Given the description of an element on the screen output the (x, y) to click on. 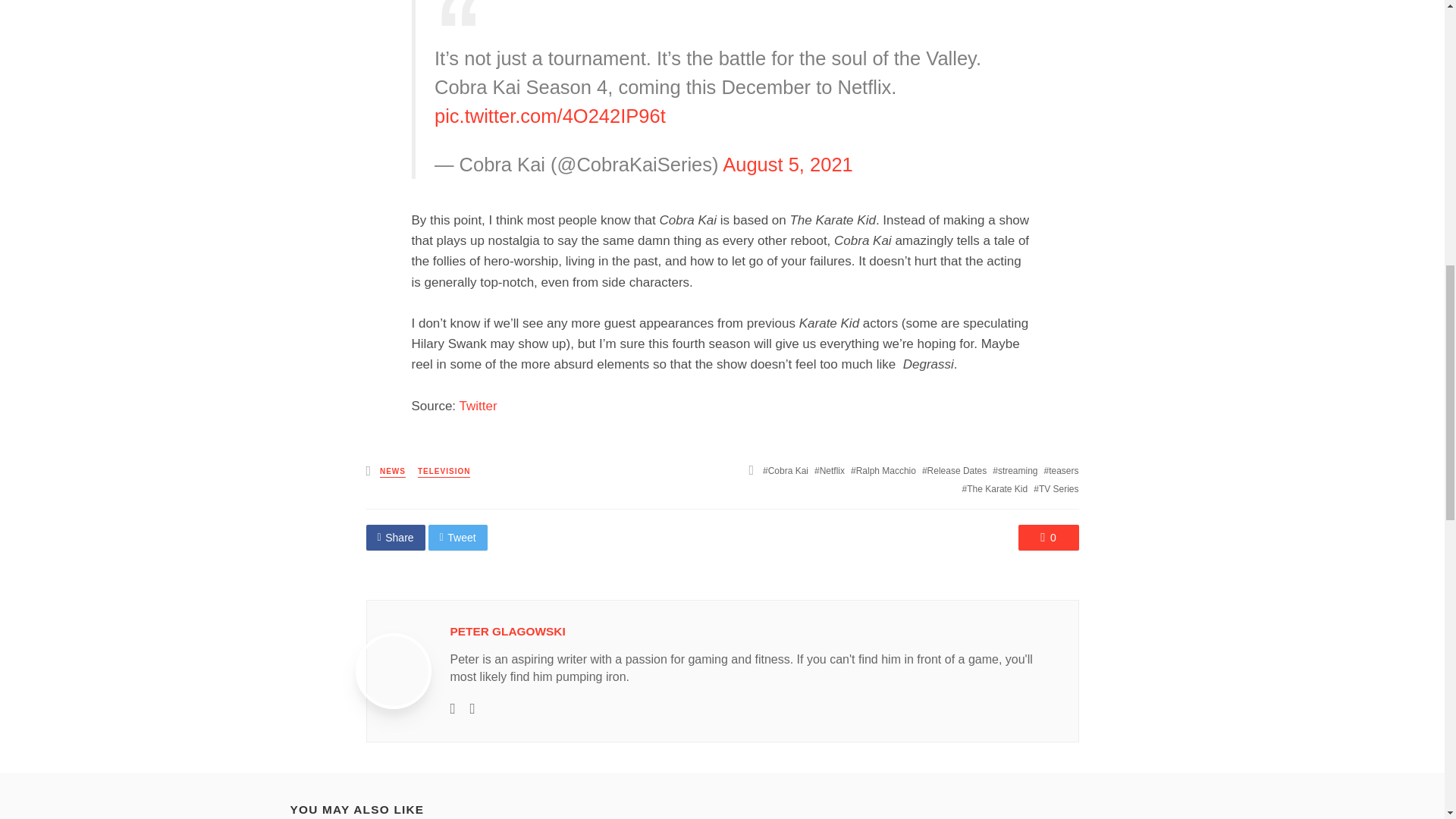
TELEVISION (443, 471)
Share on Twitter (457, 537)
Posts by Peter Glagowski (507, 631)
Netflix (828, 470)
August 5, 2021 (787, 164)
0 Comments (1047, 537)
Share on Facebook (395, 537)
NEWS (393, 471)
Ralph Macchio (882, 470)
Twitter (478, 405)
Release Dates (954, 470)
Cobra Kai (785, 470)
